Given the description of an element on the screen output the (x, y) to click on. 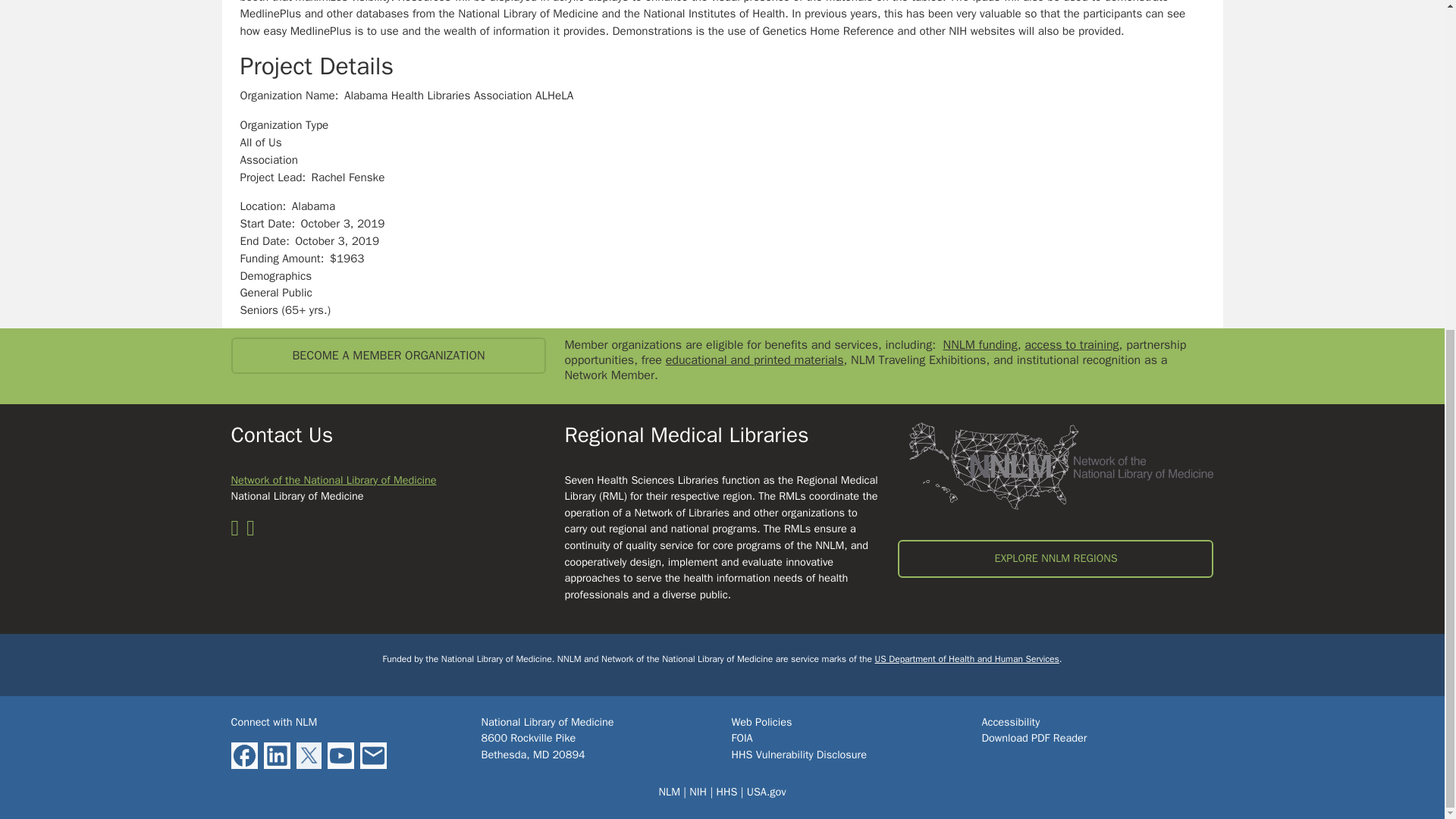
External link: please review our privacy policy. (276, 754)
External link: please review our privacy policy. (373, 754)
News blogs across the NNLM Network (238, 531)
External link: please review our privacy policy. (307, 754)
External link: please review our privacy policy. (243, 754)
External link: please review our privacy policy. (340, 754)
Get PDF Reader Plugin (1033, 737)
